Given the description of an element on the screen output the (x, y) to click on. 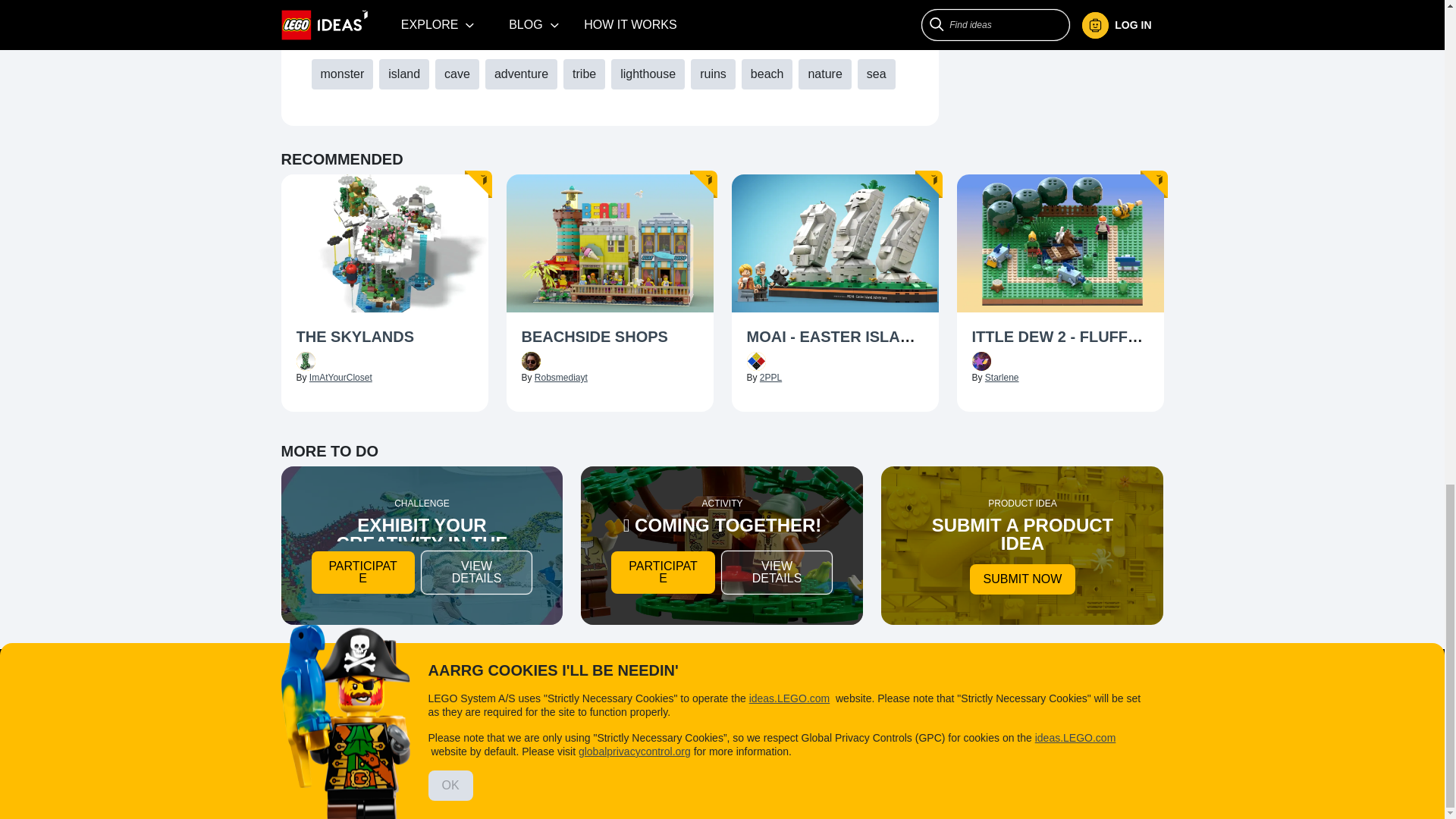
The Skylands (383, 337)
Beachside Shops (609, 337)
